Given the description of an element on the screen output the (x, y) to click on. 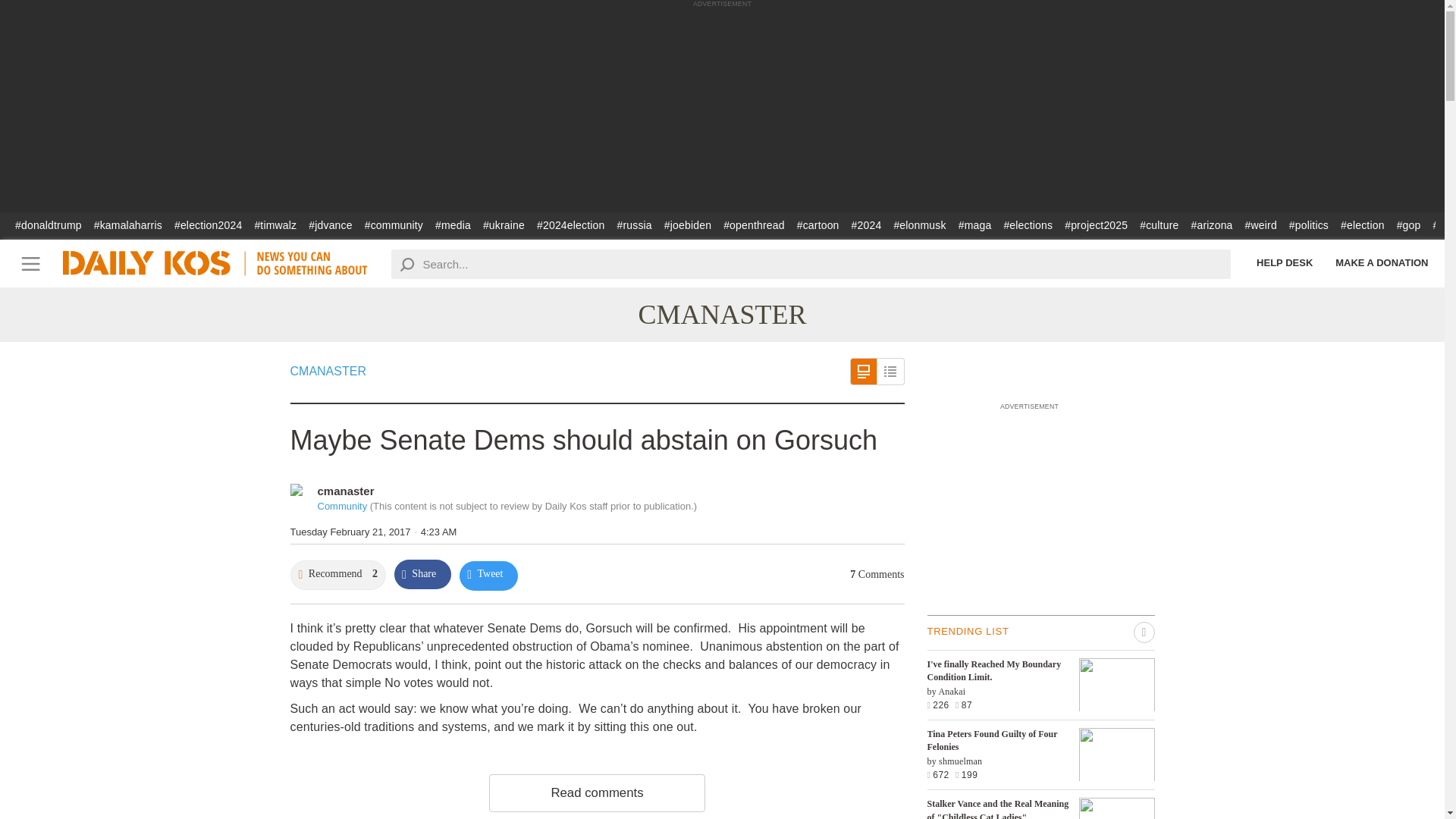
7 Comments (877, 573)
Make a Donation (1381, 262)
Help Desk (1283, 262)
MAKE A DONATION (1381, 262)
